Given the description of an element on the screen output the (x, y) to click on. 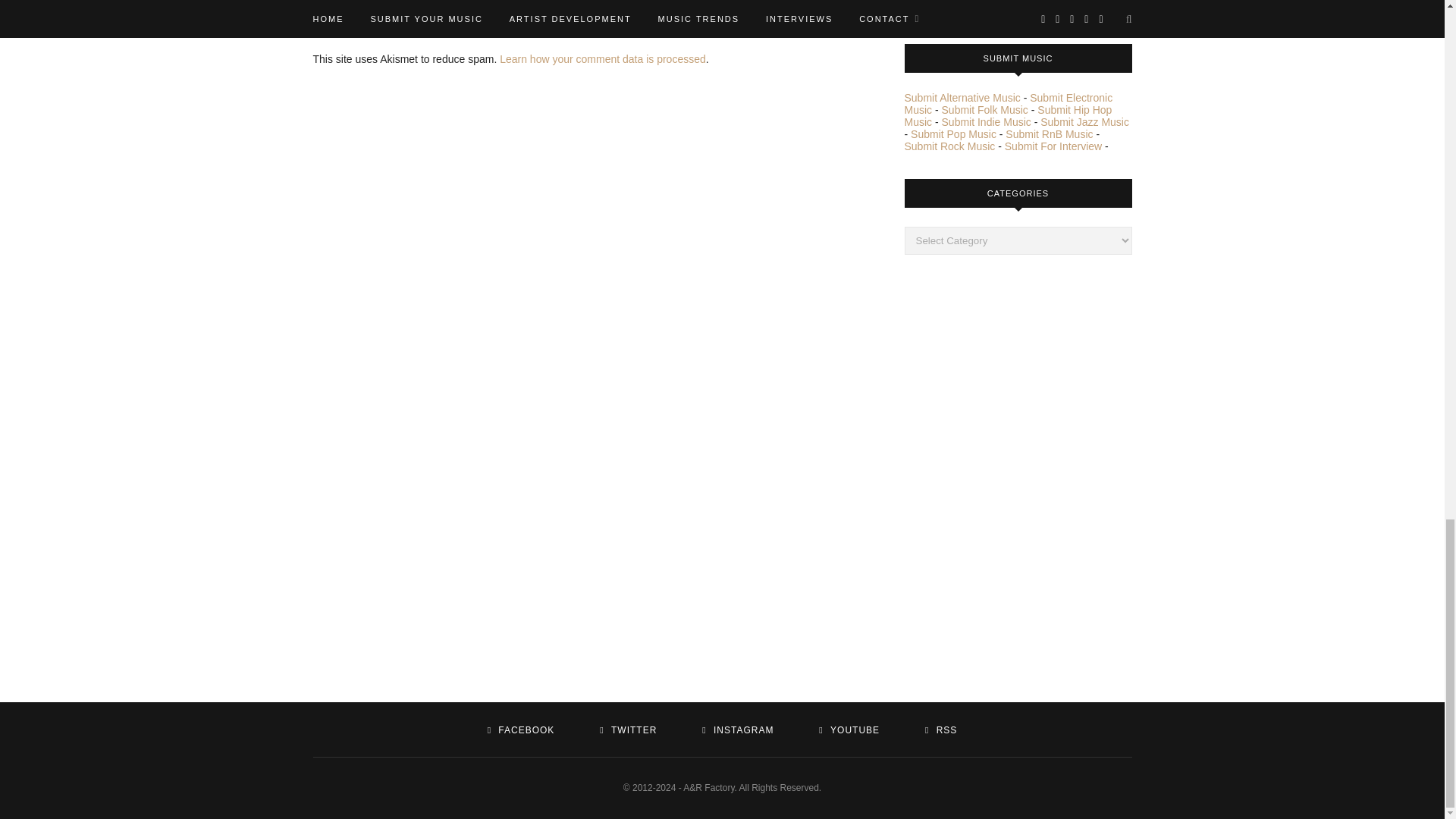
Post Comment (367, 11)
Post Comment (367, 11)
Learn how your comment data is processed (602, 59)
